Given the description of an element on the screen output the (x, y) to click on. 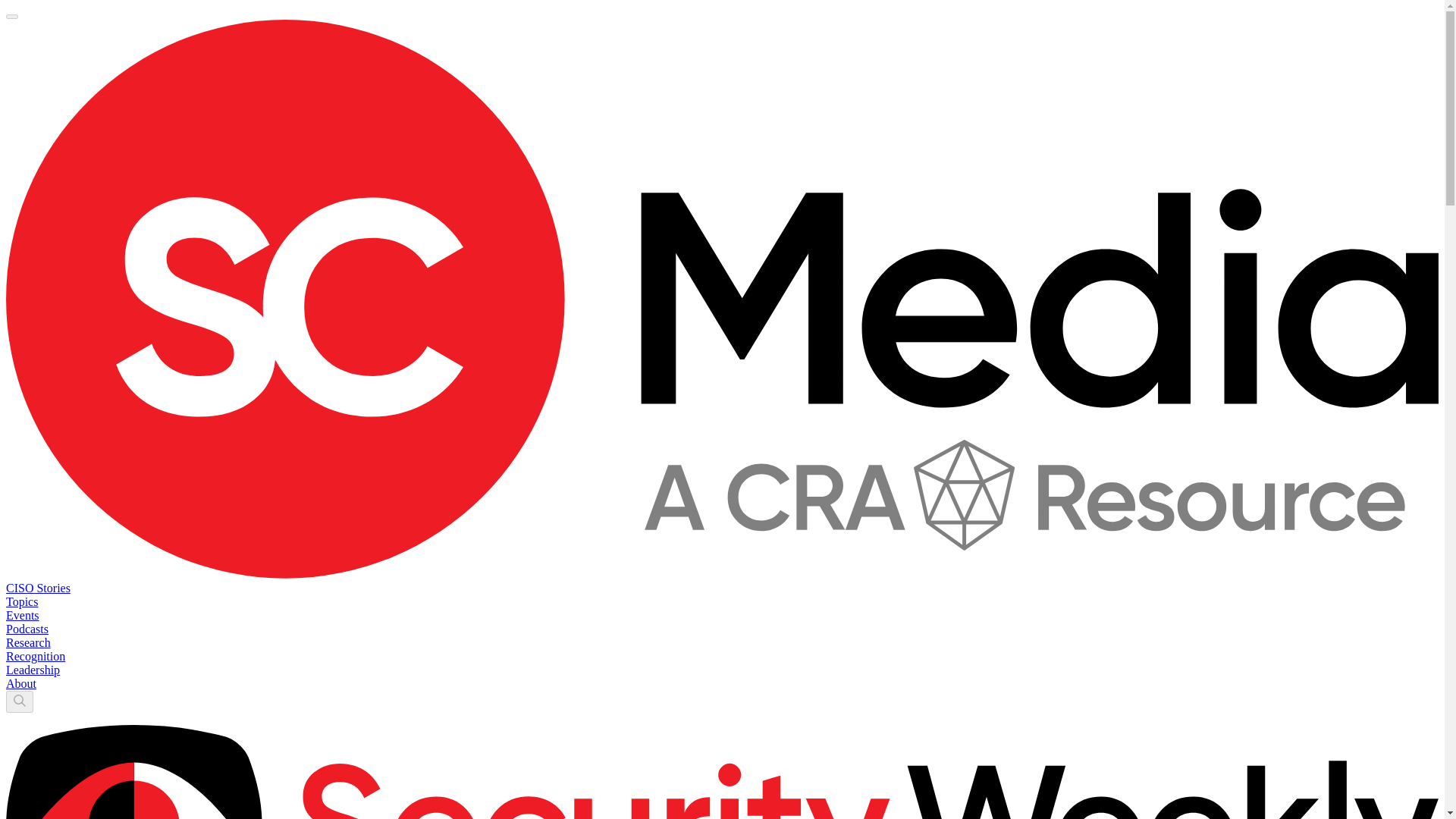
Podcasts (26, 628)
Topics (21, 601)
Leadership (32, 669)
About (20, 683)
Recognition (35, 656)
Research (27, 642)
CISO Stories (37, 587)
Events (22, 615)
